Given the description of an element on the screen output the (x, y) to click on. 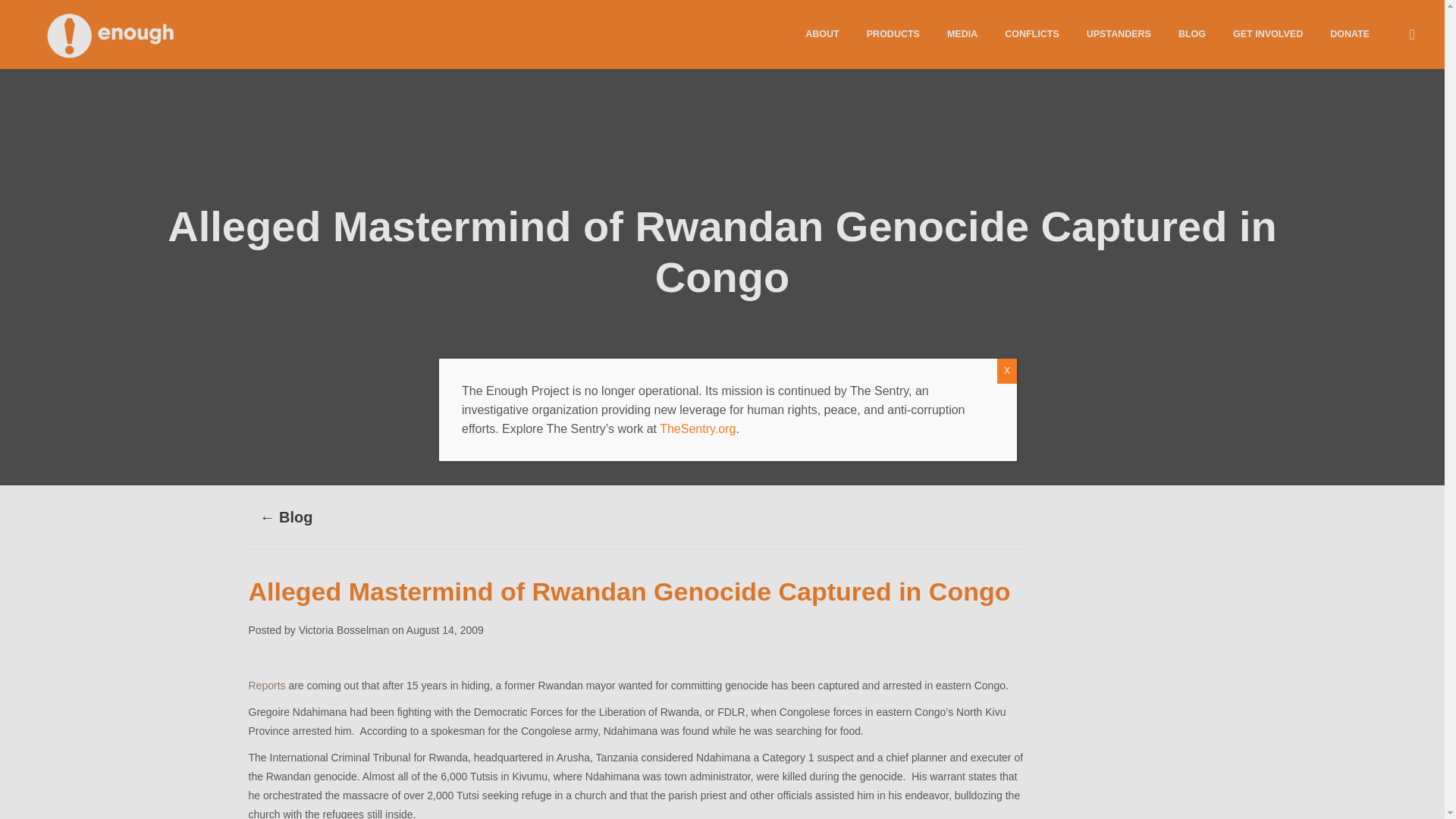
CONFLICTS (1032, 33)
UPSTANDERS (1118, 33)
ABOUT (821, 33)
GET INVOLVED (1268, 33)
PRODUCTS (893, 33)
